Given the description of an element on the screen output the (x, y) to click on. 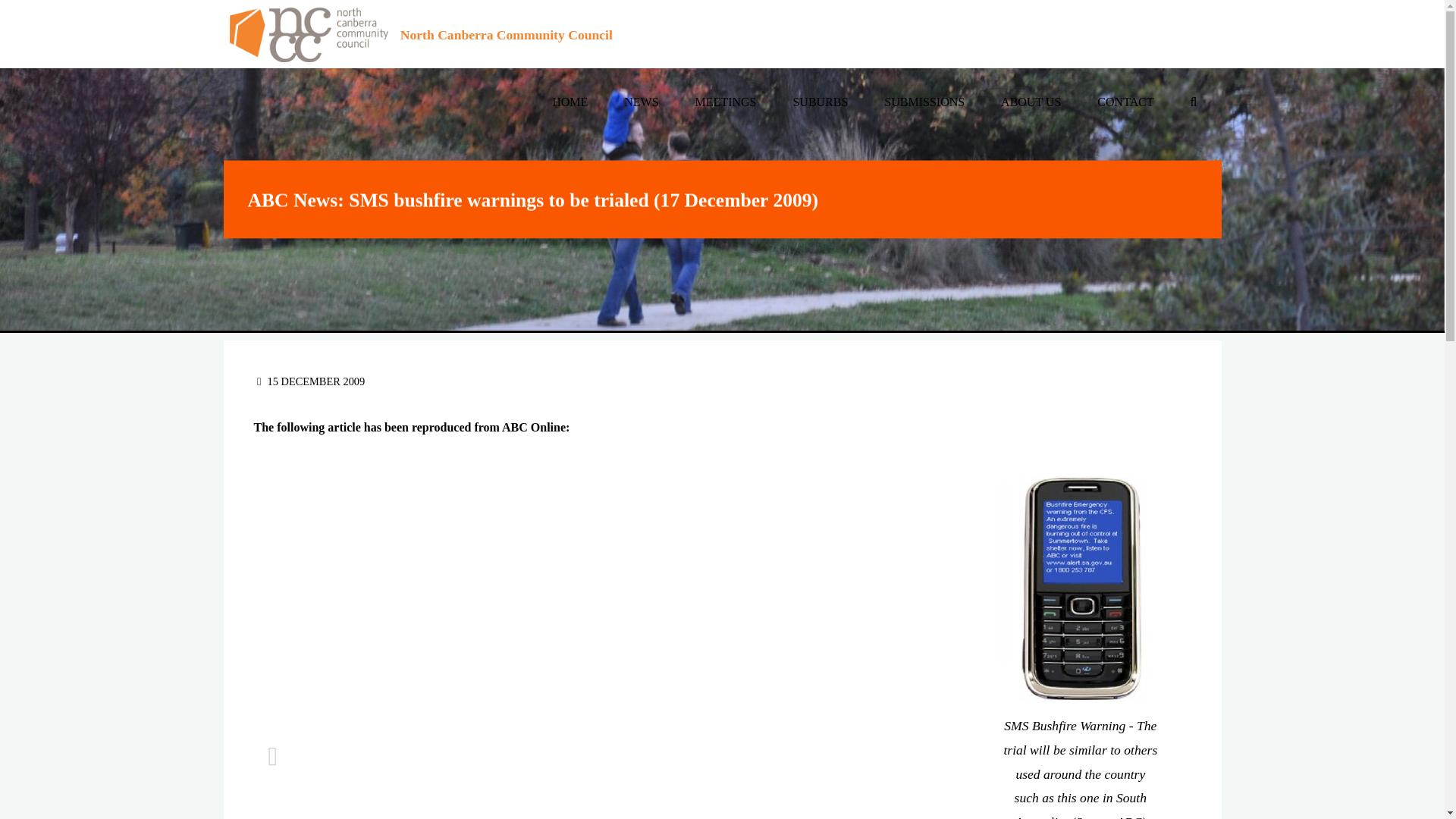
ABOUT US (1031, 101)
MEETINGS (725, 101)
CONTACT (1125, 101)
North Canberra Community Council (506, 34)
SUBMISSIONS (924, 101)
North Canberra Community Council (307, 33)
